Given the description of an element on the screen output the (x, y) to click on. 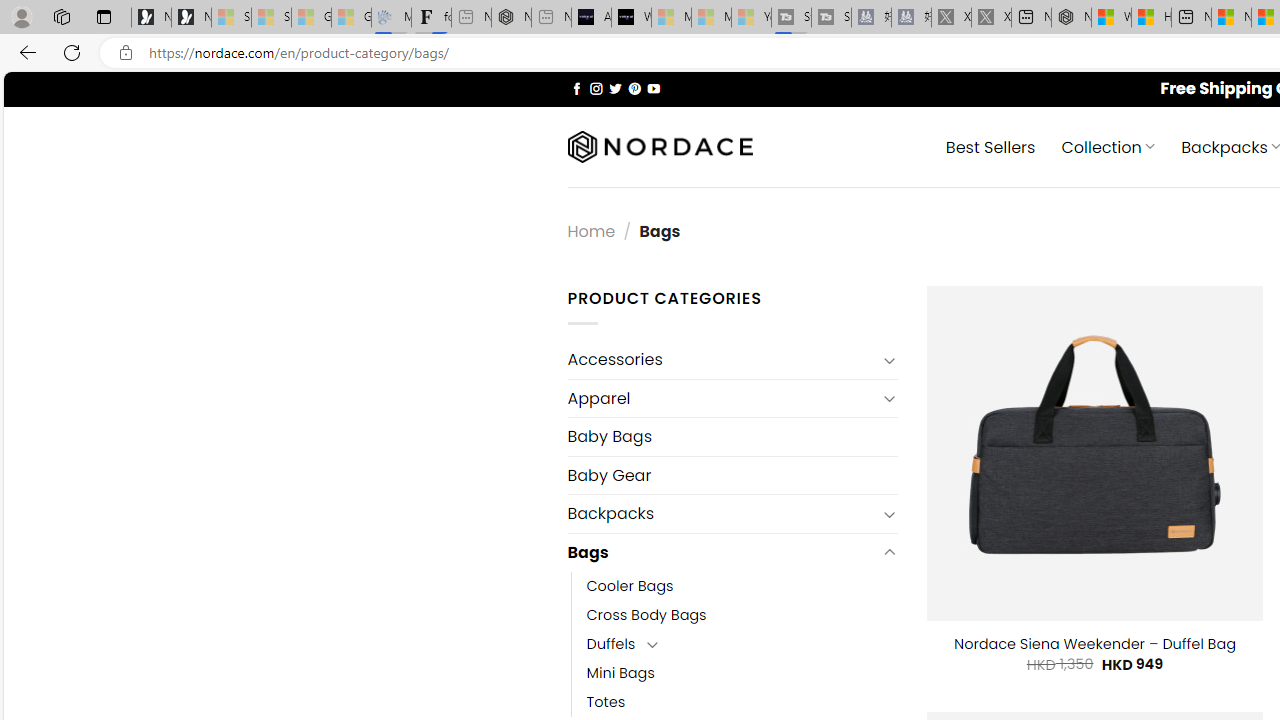
Home (591, 230)
Baby Bags (732, 435)
Follow on Facebook (576, 88)
